Given the description of an element on the screen output the (x, y) to click on. 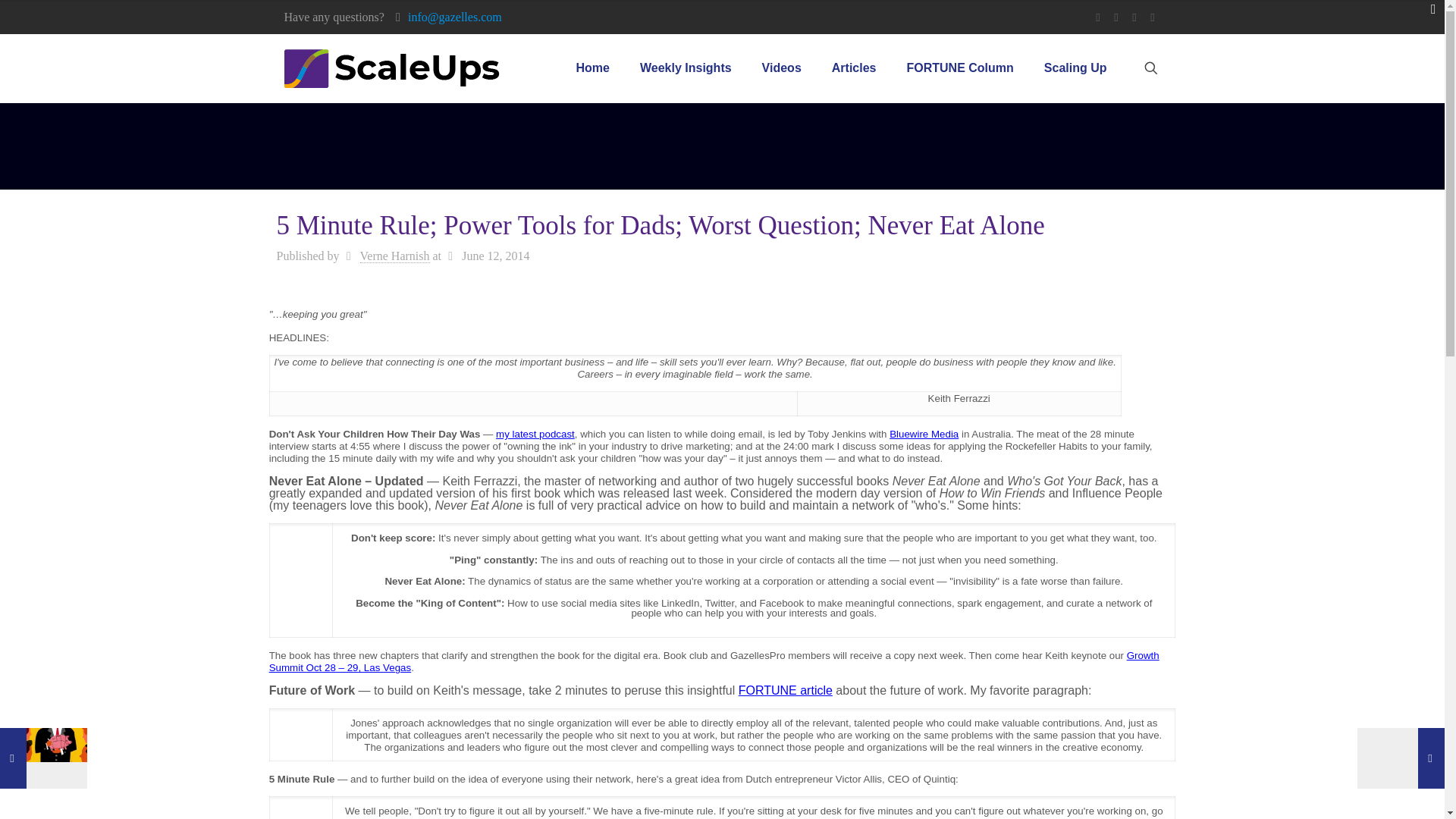
Weekly Insights (685, 68)
Bluewire Media (923, 433)
FORTUNE Column (959, 68)
YouTube (1134, 17)
my latest podcast (535, 433)
Videos (781, 68)
Verne Harnish (394, 255)
LinkedIn (1153, 17)
ScaleUps (391, 68)
Home (592, 68)
Twitter (1116, 17)
Articles (853, 68)
FORTUNE article (785, 689)
Facebook (1098, 17)
Scaling Up (1075, 68)
